Given the description of an element on the screen output the (x, y) to click on. 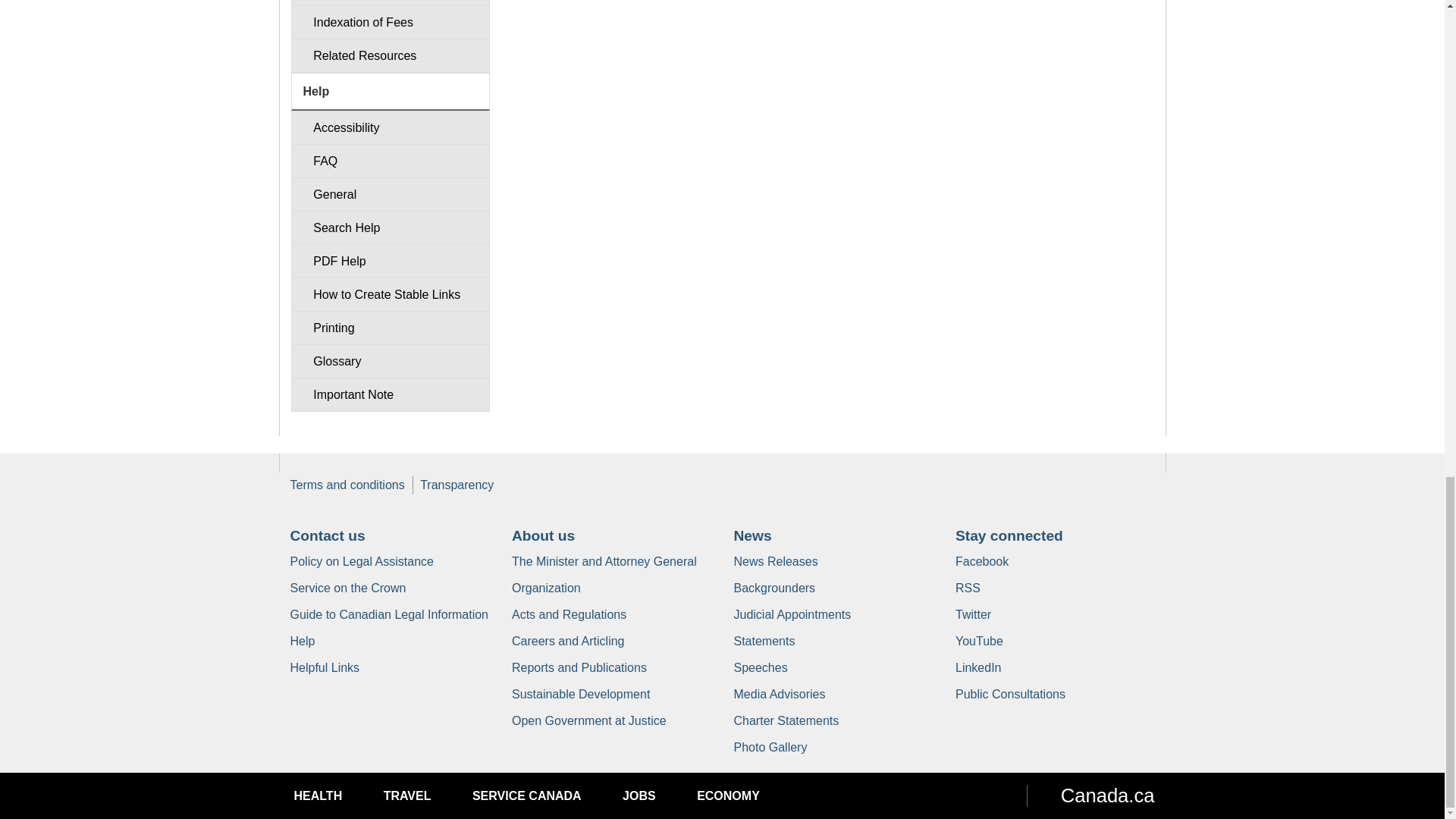
General Help (390, 194)
Printing Help (390, 327)
Related Resources (390, 55)
Accessibility Help (390, 127)
Helpful links (324, 667)
Consolidated Index of Statutory Instruments (390, 2)
Frequently Asked Questions (390, 161)
Indexation of Fees (390, 21)
